Given the description of an element on the screen output the (x, y) to click on. 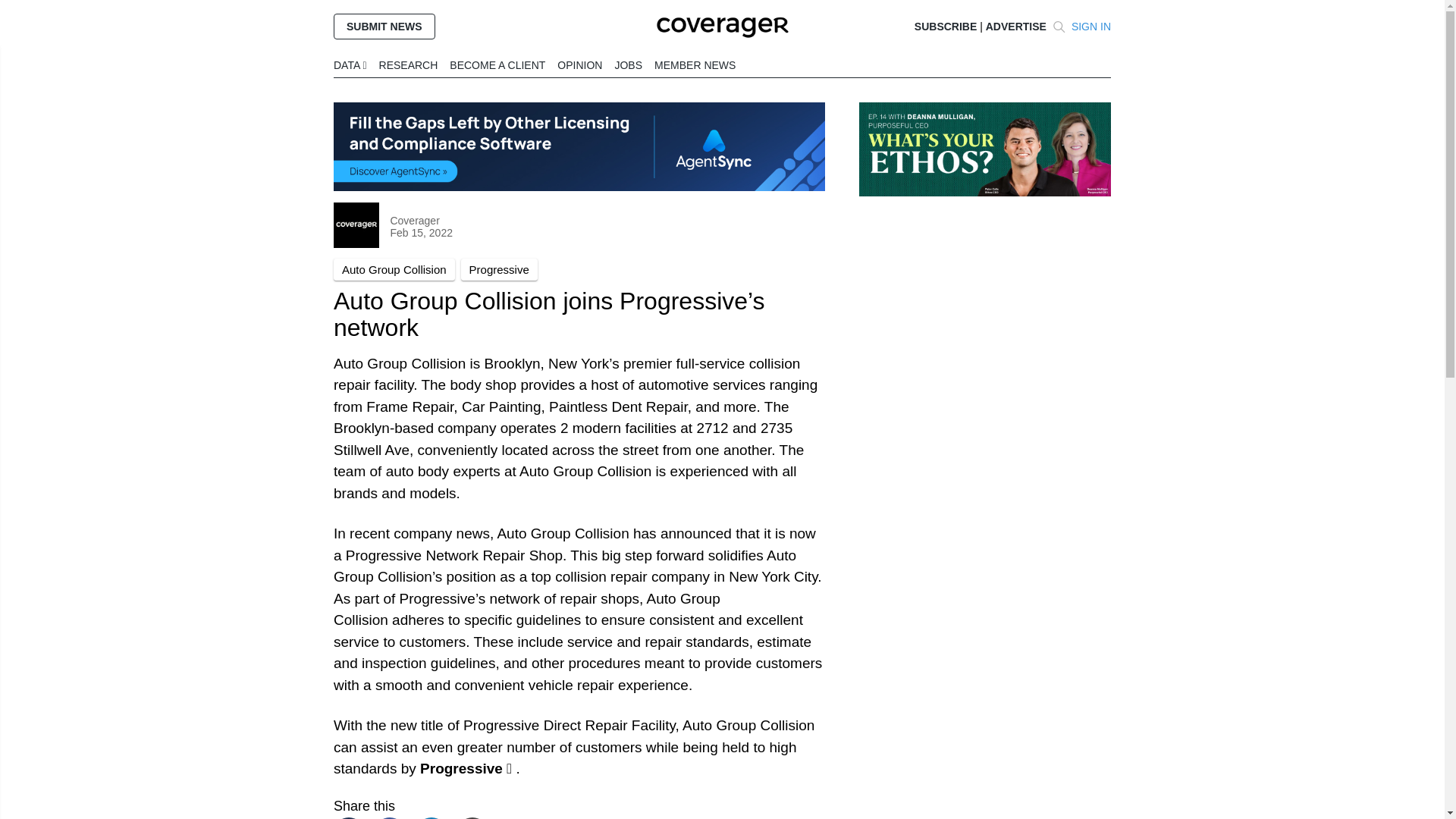
JOBS (628, 64)
SUBSCRIBE (945, 26)
SUBMIT NEWS (384, 26)
OPINION (579, 64)
ADVERTISE (1015, 26)
RESEARCH (408, 64)
BECOME A CLIENT (496, 64)
SIGN IN (1090, 26)
DATA (349, 64)
MEMBER NEWS (694, 64)
